Given the description of an element on the screen output the (x, y) to click on. 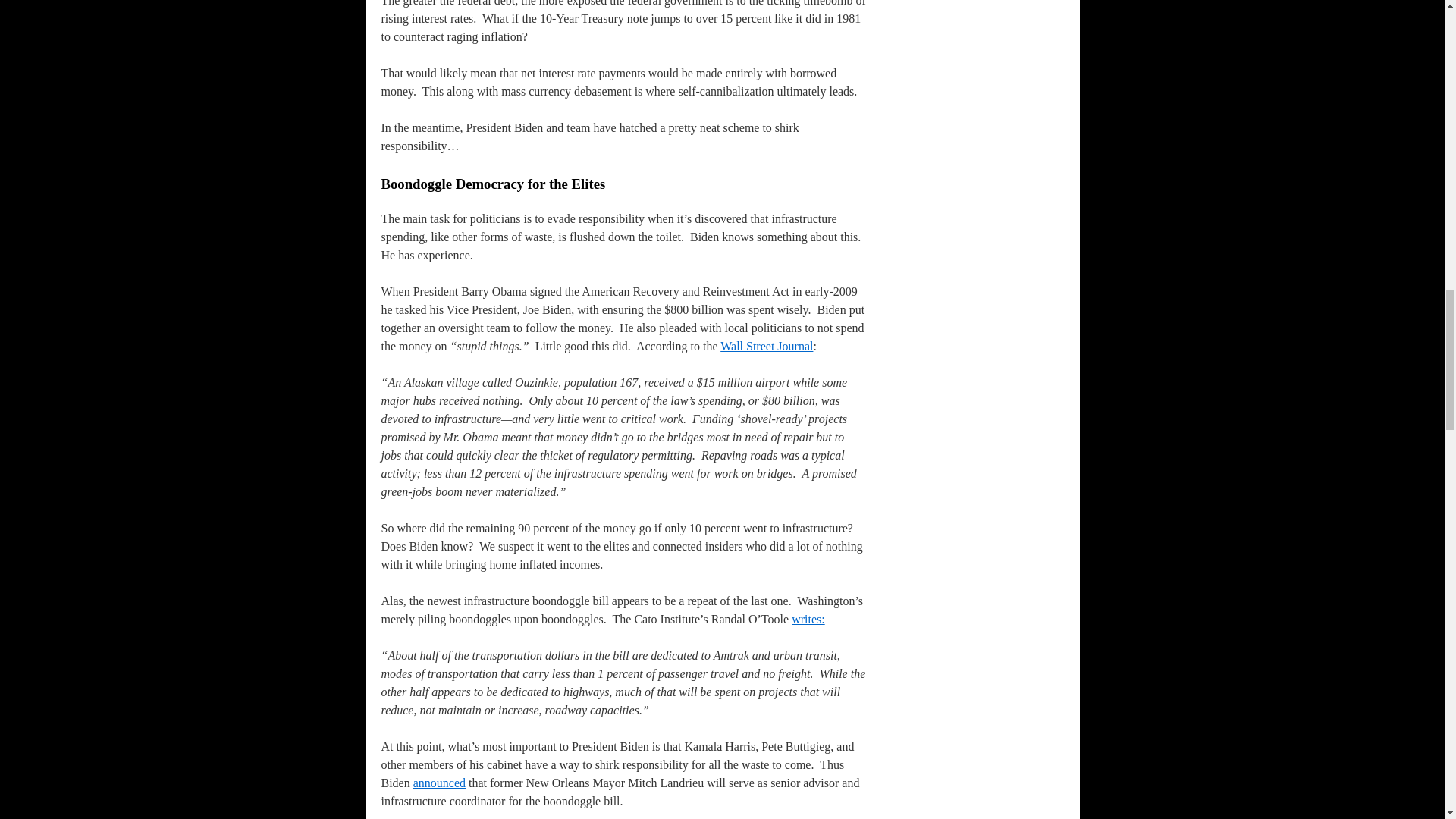
announced (439, 782)
writes: (808, 618)
Wall Street Journal (766, 345)
